Given the description of an element on the screen output the (x, y) to click on. 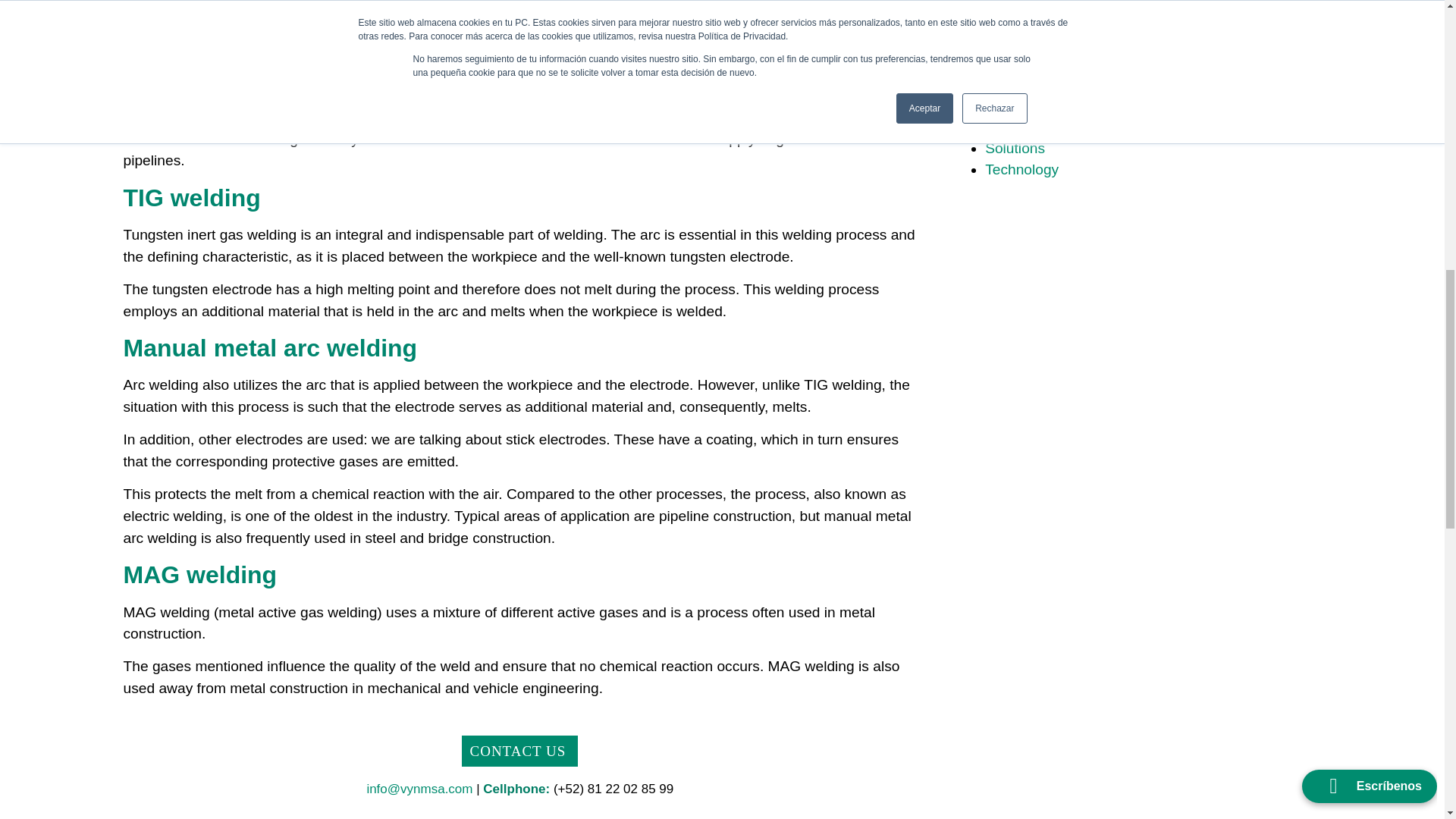
CONTACT US  (519, 750)
Contact us (519, 750)
